Given the description of an element on the screen output the (x, y) to click on. 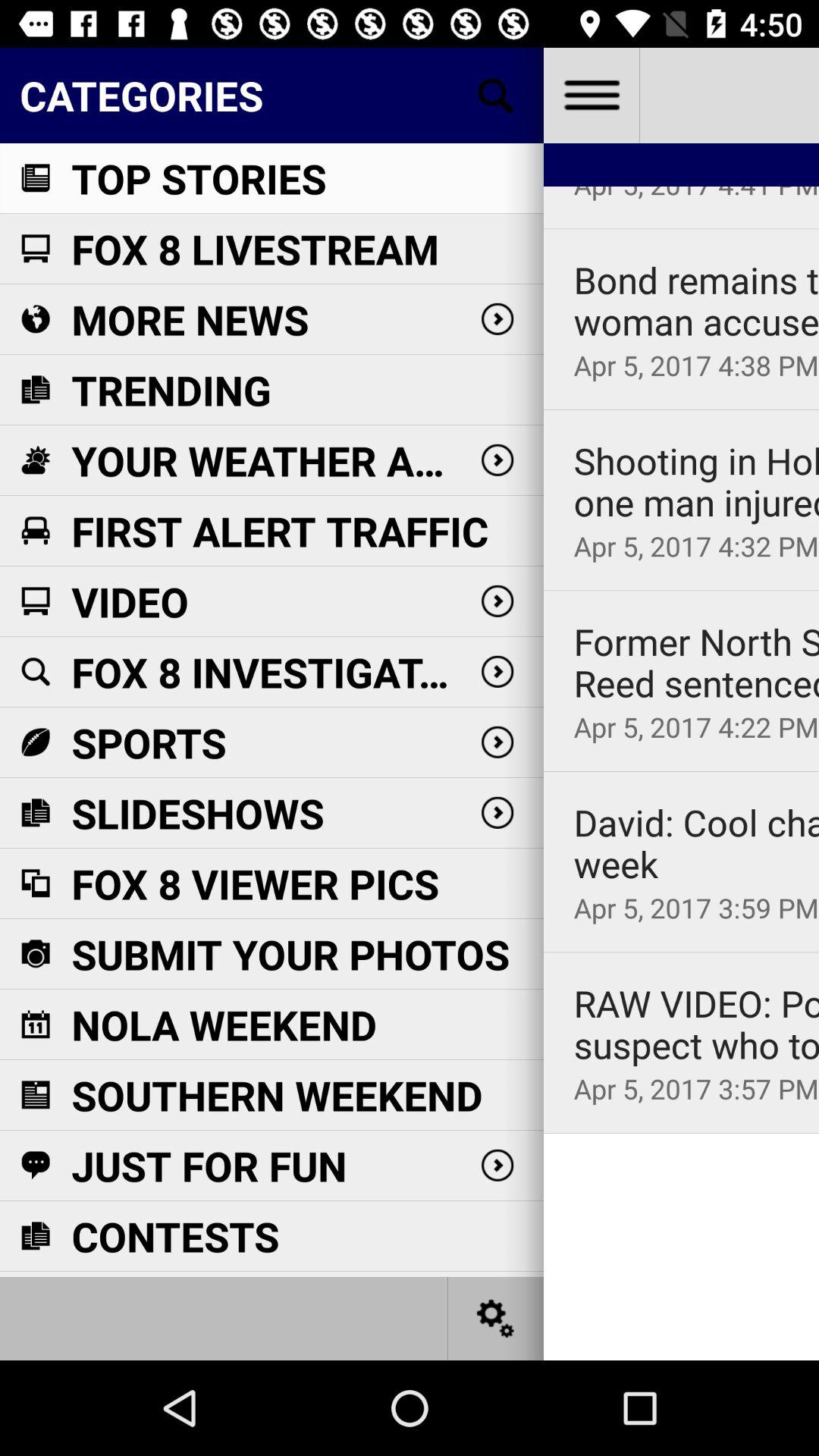
go to settings (495, 1318)
